Given the description of an element on the screen output the (x, y) to click on. 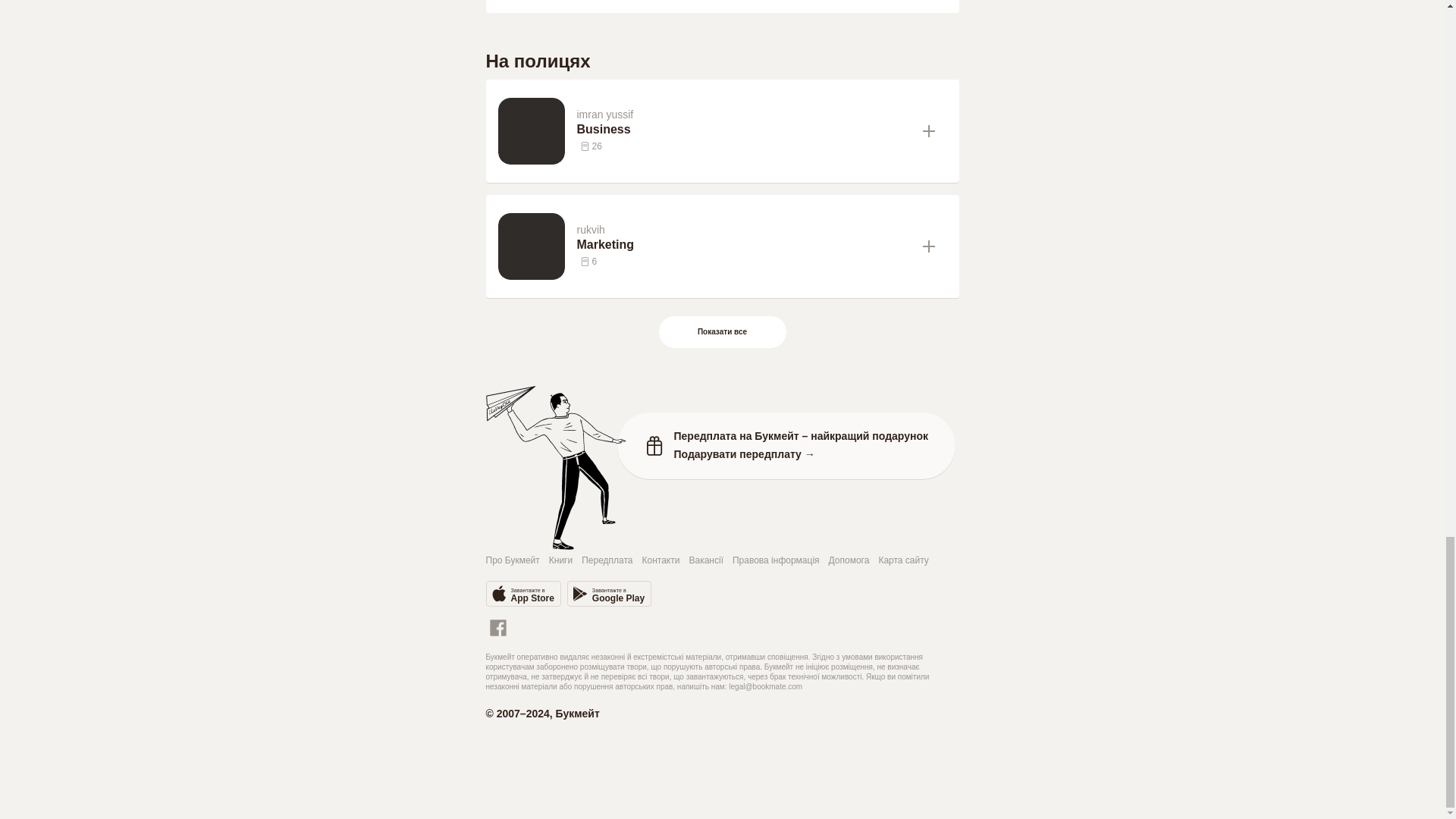
Business (743, 129)
Business (743, 129)
Marketing (743, 244)
Marketing (743, 244)
